Given the description of an element on the screen output the (x, y) to click on. 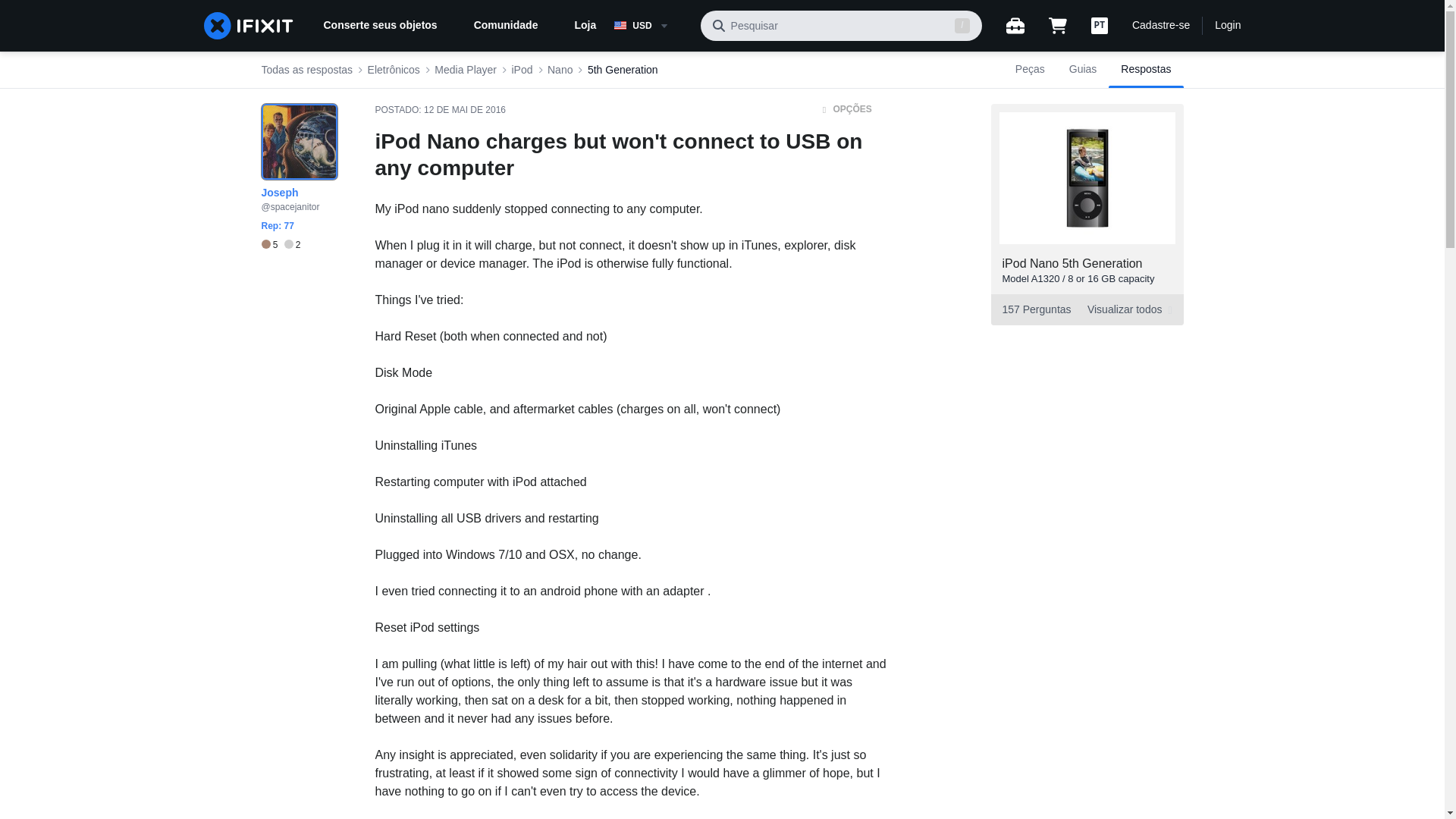
Thu, 12 May 2016 09:41:34 -0700 (464, 109)
iPod (521, 69)
Respostas (1145, 69)
Media Player (464, 69)
Cadastre-se (1160, 25)
Guias (1083, 69)
Login (1227, 25)
Nano (559, 69)
2 emblemas de Prata (292, 245)
POSTADO: 12 DE MAI DE 2016 (439, 109)
USD (1086, 309)
5 2 (650, 25)
5th Generation (279, 245)
Todas as respostas (623, 69)
